Given the description of an element on the screen output the (x, y) to click on. 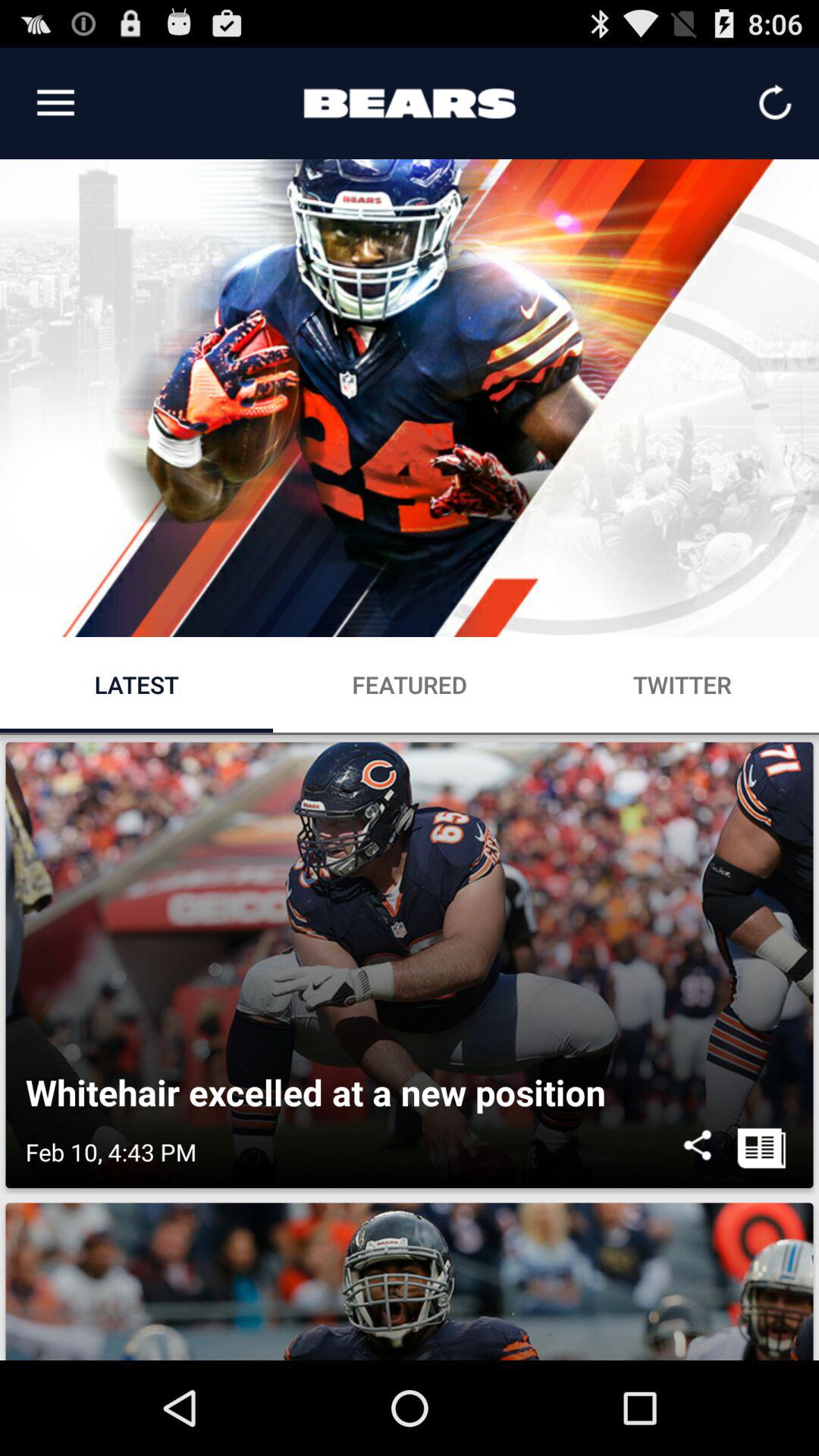
press item to the right of feb 10 4 (697, 1152)
